Given the description of an element on the screen output the (x, y) to click on. 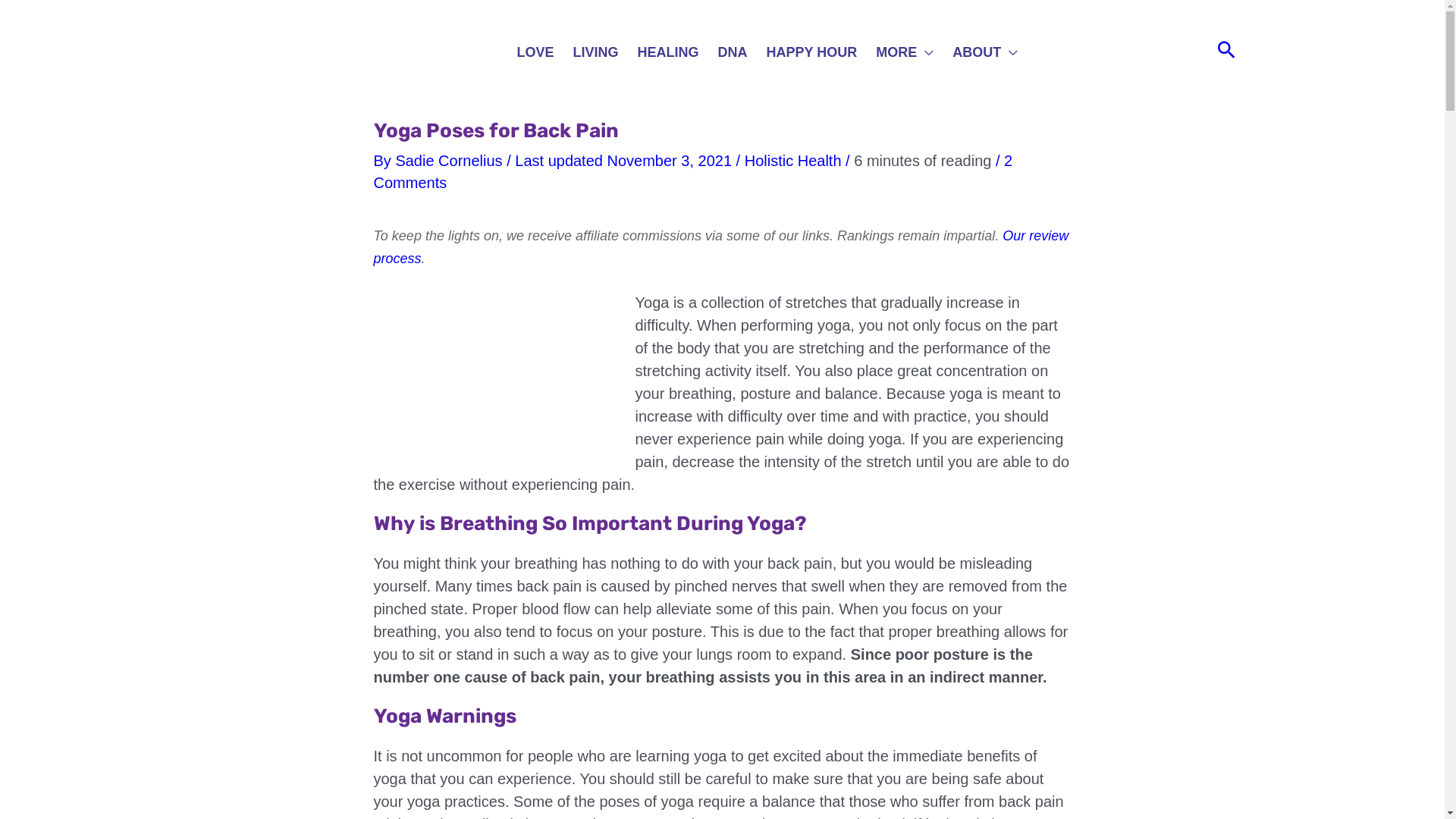
MORE (905, 53)
LOVE (537, 53)
Holistic Health (792, 160)
HAPPY HOUR (813, 53)
ABOUT (986, 53)
Yoga Poses for Back Pain (496, 374)
HEALING (670, 53)
LIVING (598, 53)
View all posts by Sadie Cornelius (450, 160)
DNA (734, 53)
Sadie Cornelius (450, 160)
